Given the description of an element on the screen output the (x, y) to click on. 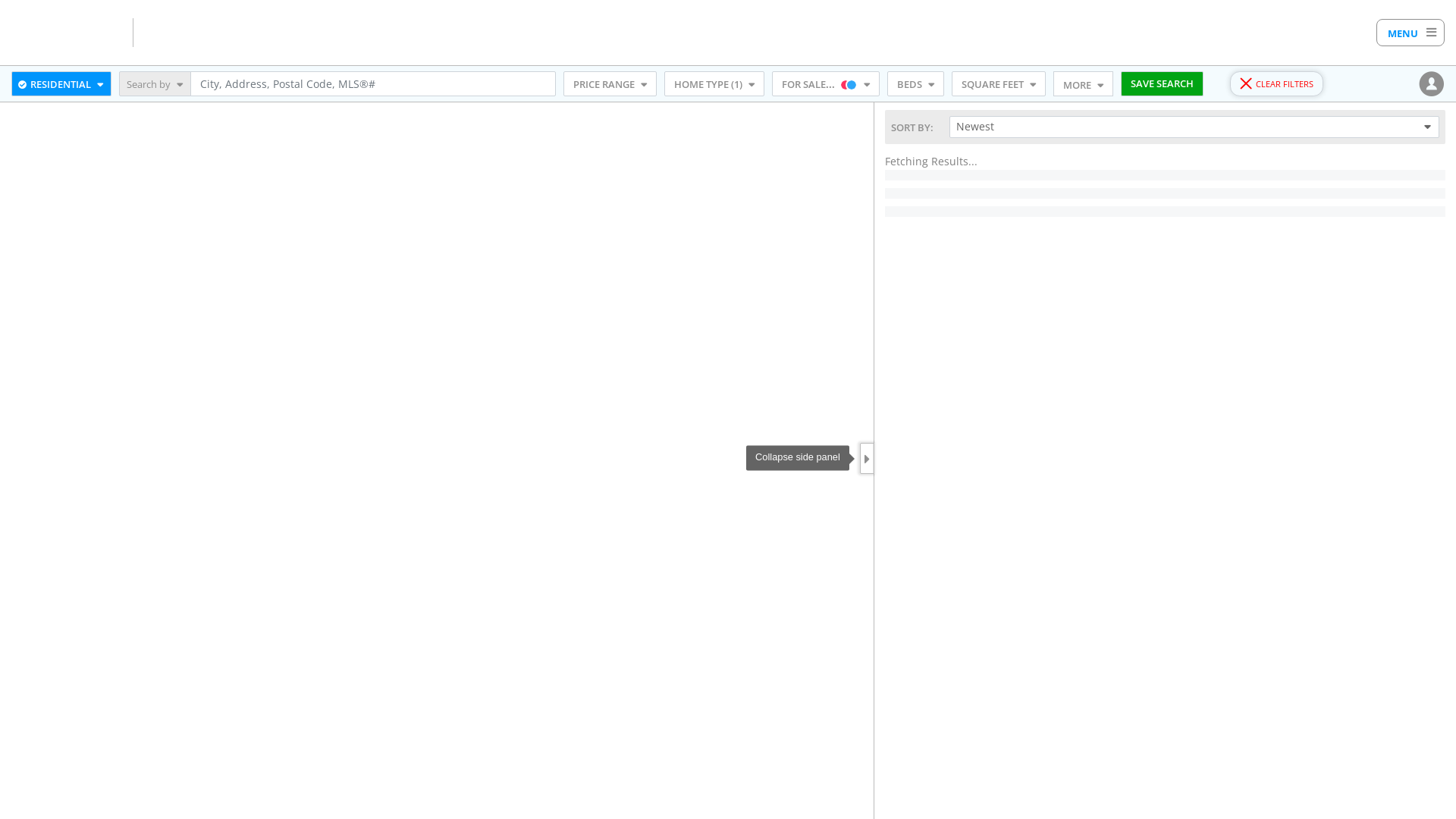
Search by Element type: text (155, 84)
RESIDENTIAL Element type: text (61, 84)
MENU Element type: text (1410, 32)
CLEAR FILTERS Element type: text (1276, 84)
SAVE SEARCH Element type: text (1161, 84)
BEDS Element type: text (915, 84)
FOR SALE... Element type: text (825, 84)
SQUARE FEET Element type: text (998, 84)
HOME TYPE (1) Element type: text (714, 84)
Newest Element type: text (1194, 127)
PRICE RANGE Element type: text (609, 84)
